Given the description of an element on the screen output the (x, y) to click on. 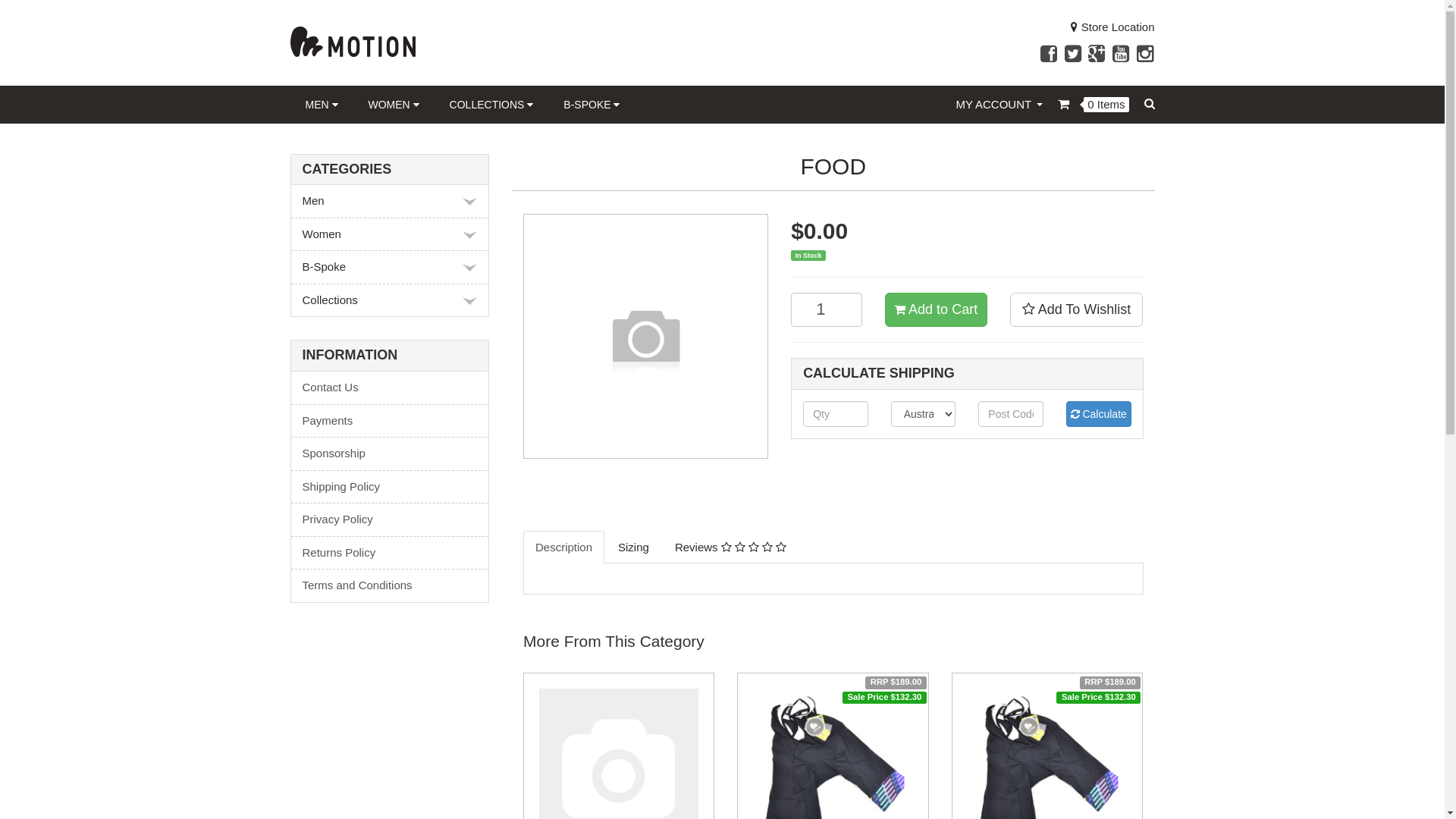
WOMEN Element type: text (393, 103)
COLLECTIONS Element type: text (491, 103)
B-Spoke Element type: text (390, 267)
Terms and Conditions Element type: text (390, 585)
Add to Cart Element type: text (935, 309)
Reviews Element type: text (730, 546)
Store Location Element type: text (1112, 26)
Add To Wishlist Element type: text (1076, 309)
Description Element type: text (563, 546)
Sponsorship Element type: text (390, 453)
Collections Element type: text (390, 300)
Returns Policy Element type: text (390, 552)
Men Element type: text (390, 201)
Motion pty ltd Element type: hover (351, 40)
Payments Element type: text (390, 420)
0 Items Element type: text (1092, 104)
Calculate Element type: text (1098, 413)
MEN Element type: text (320, 103)
Sizing Element type: text (633, 546)
B-SPOKE Element type: text (591, 103)
Shipping Policy Element type: text (390, 486)
Women Element type: text (390, 234)
Contact Us Element type: text (390, 387)
Privacy Policy Element type: text (390, 519)
